Given the description of an element on the screen output the (x, y) to click on. 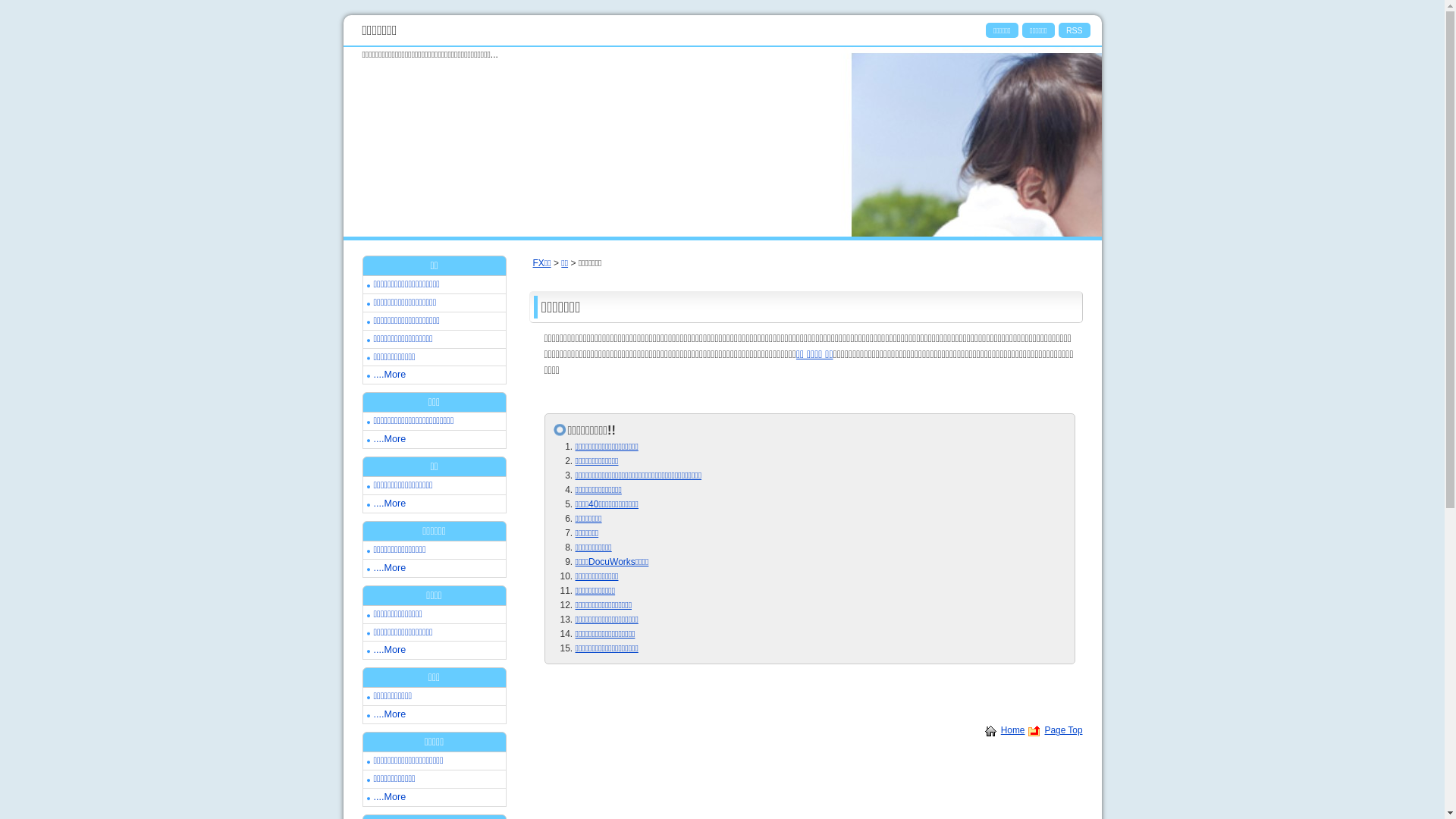
....More Element type: text (389, 649)
....More Element type: text (389, 503)
Home Element type: text (1013, 729)
RSS Element type: text (1074, 29)
....More Element type: text (389, 374)
....More Element type: text (389, 567)
....More Element type: text (389, 438)
Page Top Element type: text (1063, 729)
....More Element type: text (389, 796)
....More Element type: text (389, 714)
